Given the description of an element on the screen output the (x, y) to click on. 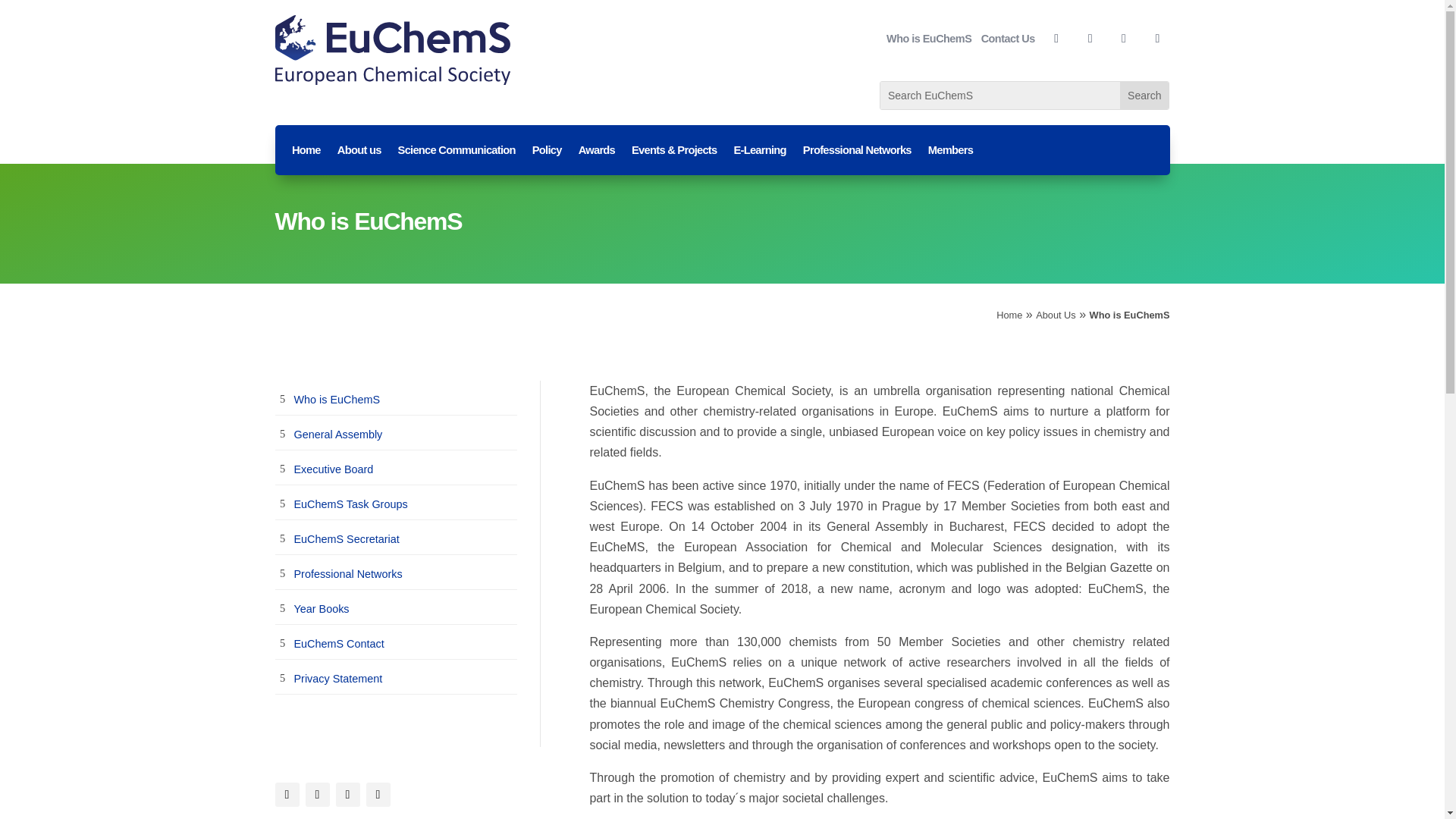
Follow on Youtube (1156, 38)
Follow on Linkedin (1123, 38)
Contact us (1008, 38)
About us (359, 152)
Home (306, 152)
Policy (547, 152)
Awards (596, 152)
Who is EuChemS (928, 38)
Science Communication (456, 152)
Search (1144, 94)
